Given the description of an element on the screen output the (x, y) to click on. 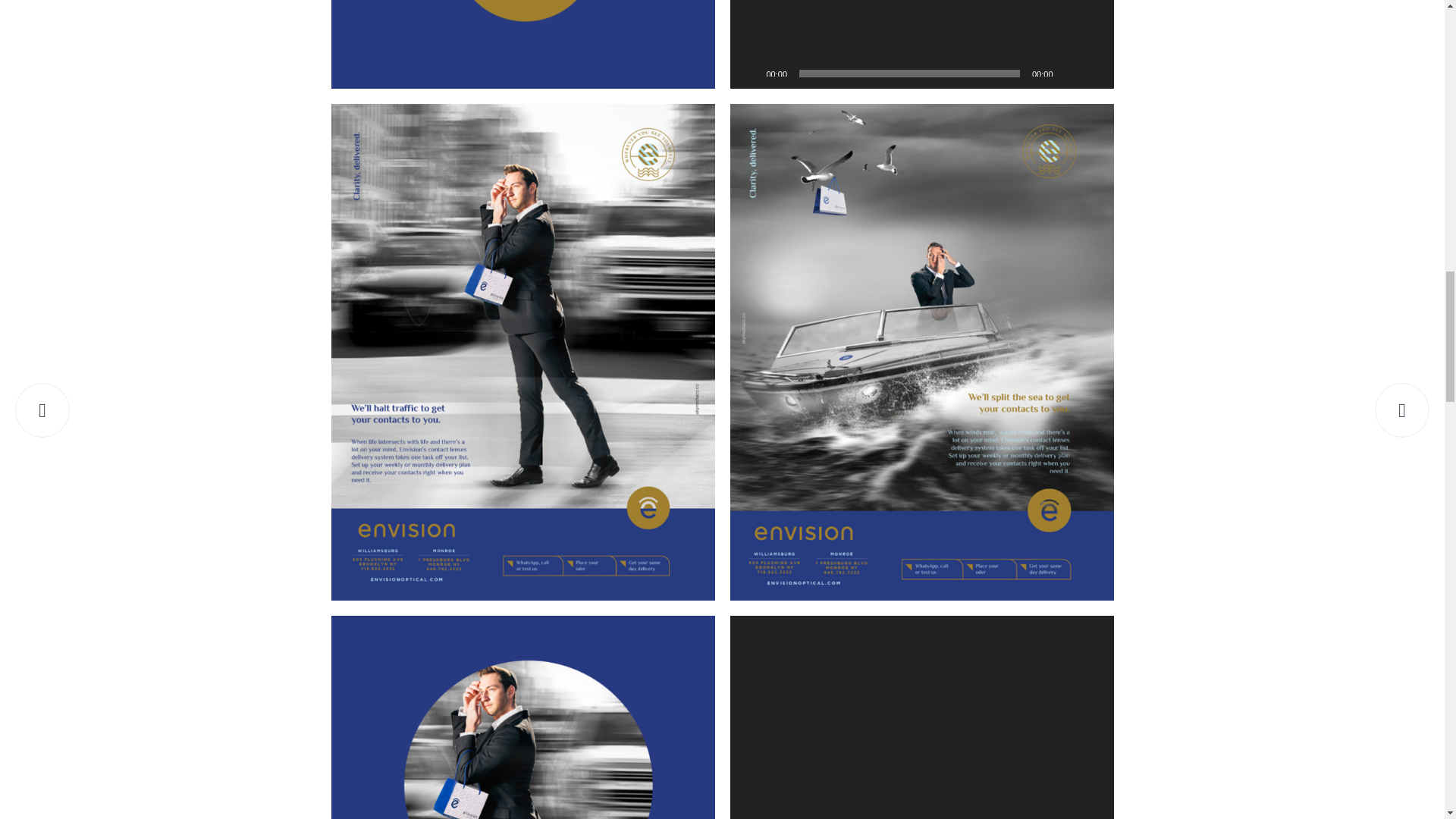
Envision-img-7 (522, 44)
Envision-img-06 (522, 717)
Play (749, 73)
